Given the description of an element on the screen output the (x, y) to click on. 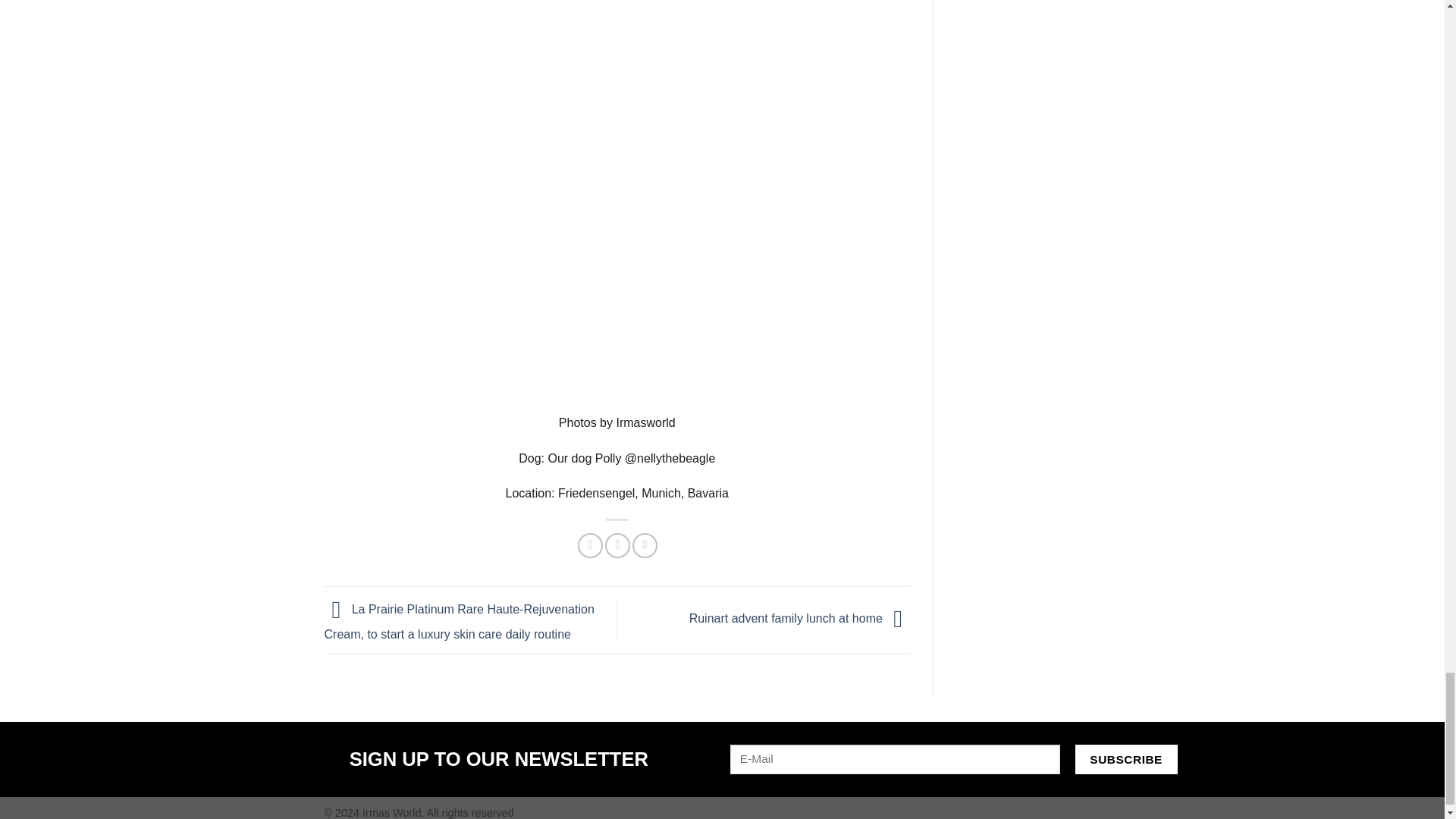
Pin on Pinterest (644, 545)
Ruinart advent family lunch at home (799, 618)
Share on Twitter (617, 545)
Share on Facebook (590, 545)
